Given the description of an element on the screen output the (x, y) to click on. 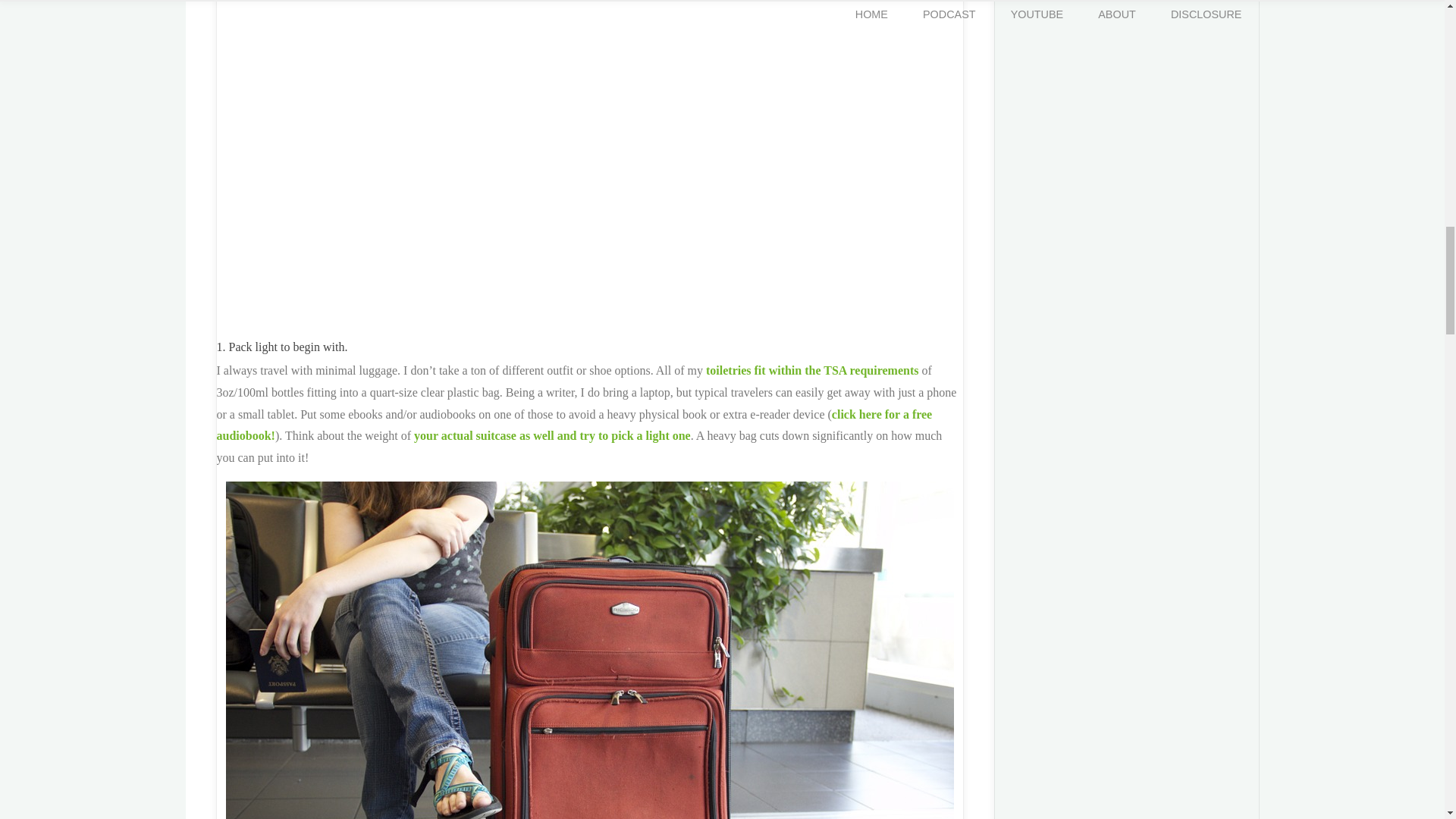
your actual suitcase as well and try to pick a light one (551, 435)
click here for a free audiobook! (574, 425)
toiletries fit within the TSA requirements (812, 369)
